Given the description of an element on the screen output the (x, y) to click on. 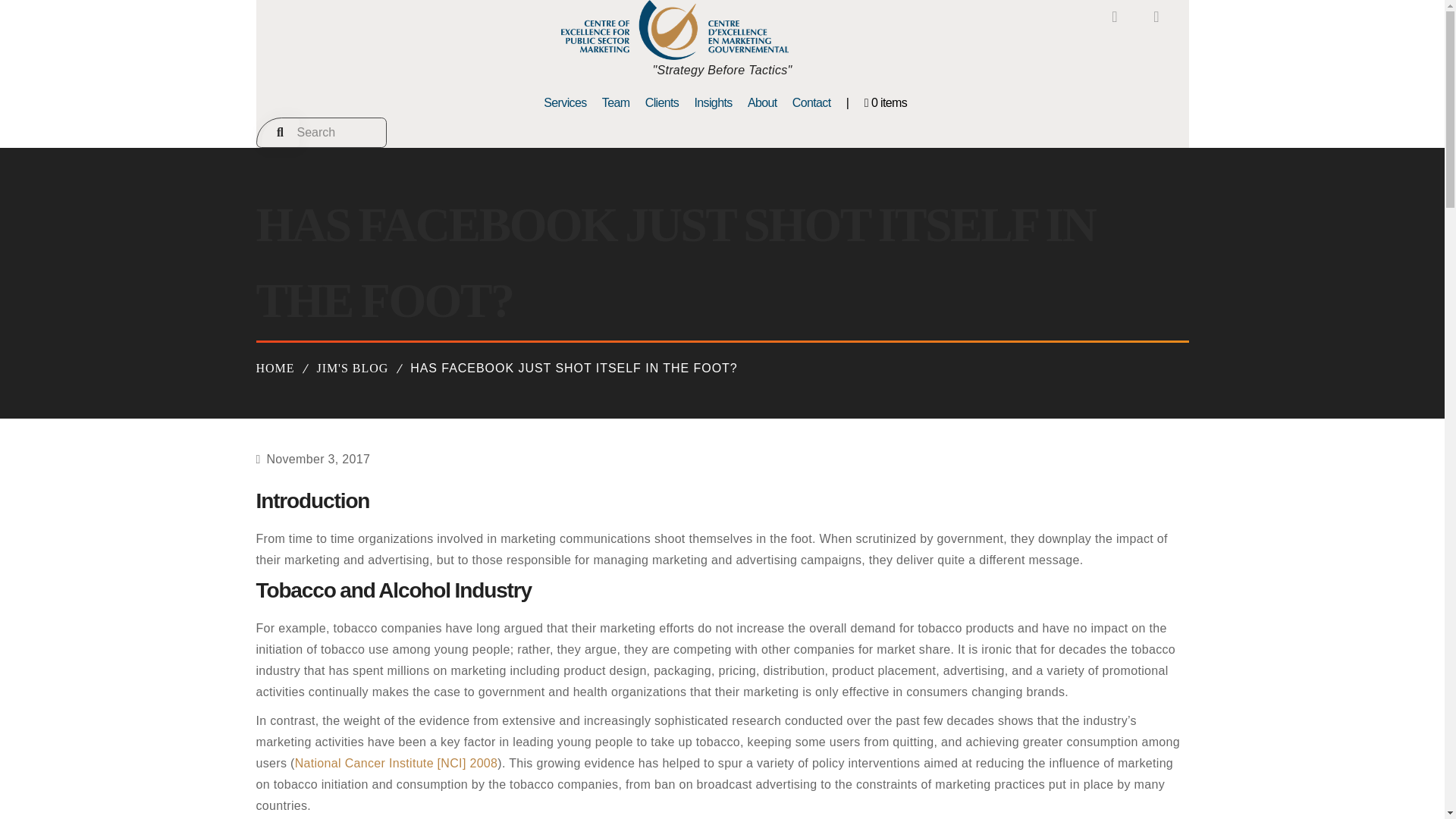
Twitter (1155, 17)
Search (321, 132)
JIM'S BLOG (351, 367)
About (761, 102)
HOME (275, 367)
Team (615, 102)
Go (279, 132)
LinkedIn (1114, 17)
0 items (885, 102)
Services (564, 102)
